Given the description of an element on the screen output the (x, y) to click on. 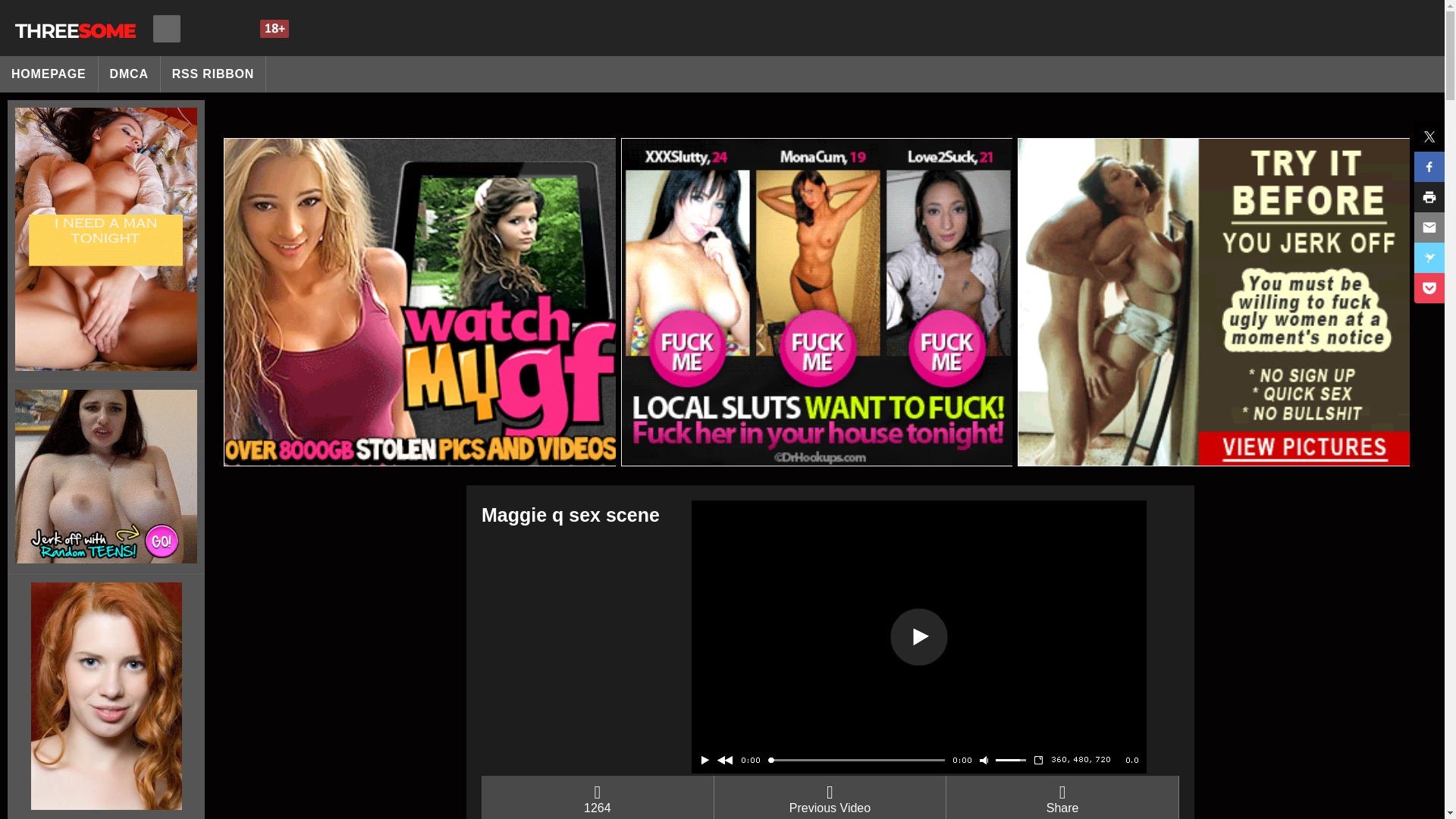
HOMEPAGE (49, 74)
DMCA (129, 74)
RSS RIBBON (213, 74)
